Given the description of an element on the screen output the (x, y) to click on. 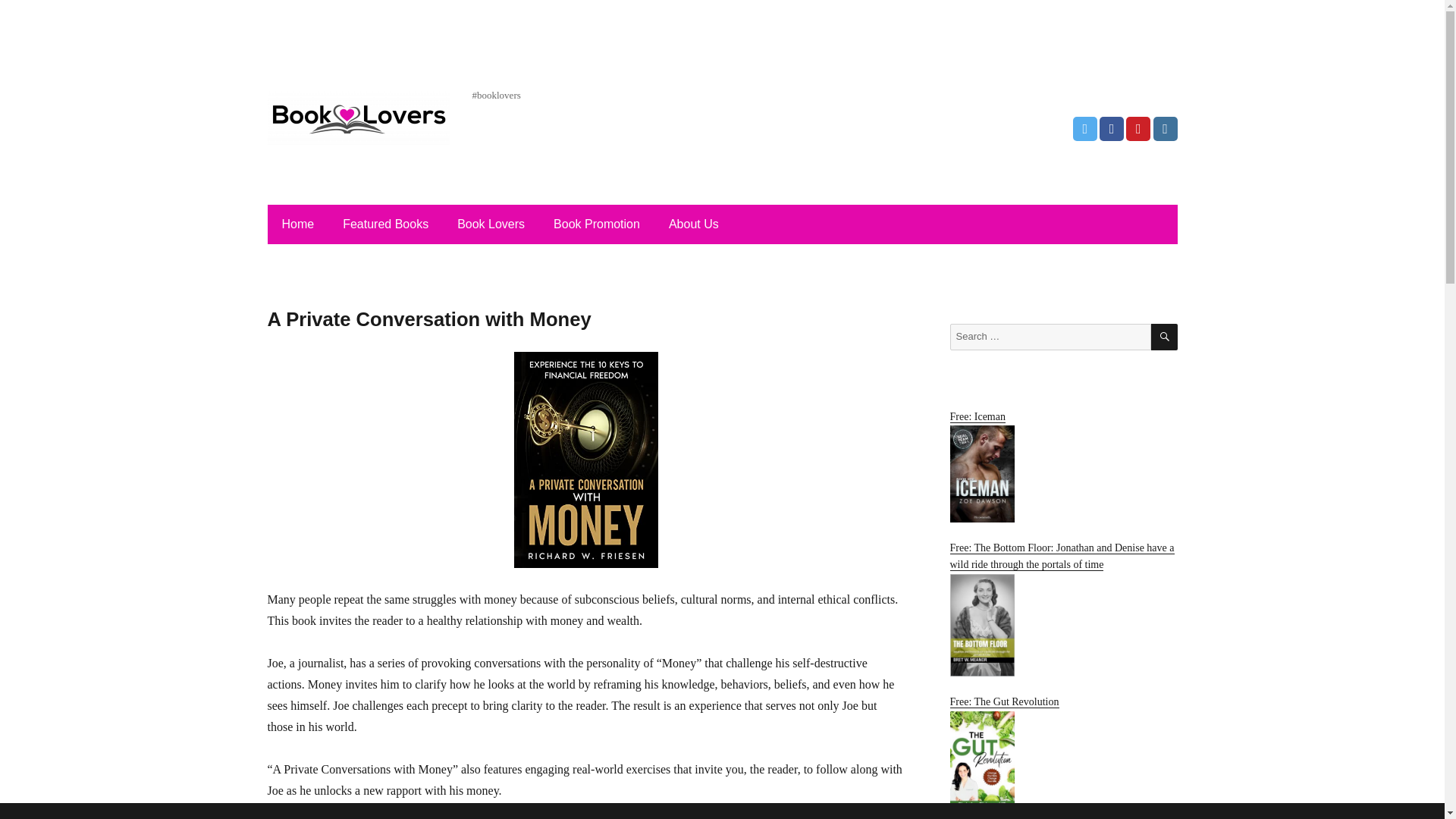
Pinterest (1137, 128)
Home (297, 224)
Instagram (1164, 128)
Facebook (1111, 128)
SEARCH (1164, 336)
Free: Iceman (1062, 466)
About Us (693, 224)
Free: The Gut Revolution (1062, 751)
Book Promotion (596, 224)
Book Lovers (490, 224)
Featured Books (385, 224)
Twitter (1085, 128)
